Given the description of an element on the screen output the (x, y) to click on. 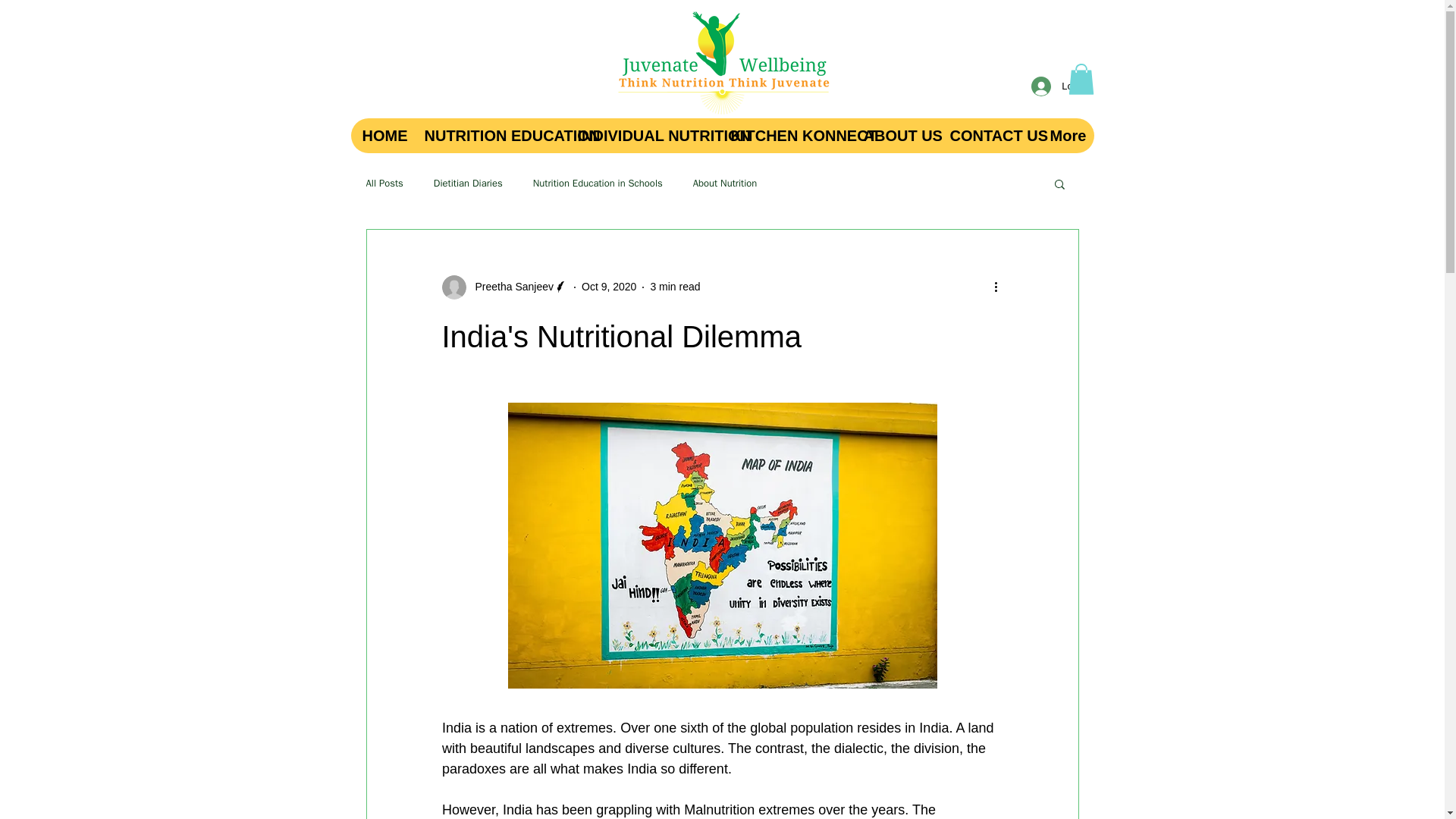
ABOUT US (893, 135)
3 min read (674, 286)
HOME (381, 135)
Preetha Sanjeev (504, 287)
CONTACT US (986, 135)
Preetha Sanjeev (509, 286)
About Nutrition (725, 183)
All Posts (384, 183)
KITCHEN KONNECT (785, 135)
Log In (1059, 86)
